Given the description of an element on the screen output the (x, y) to click on. 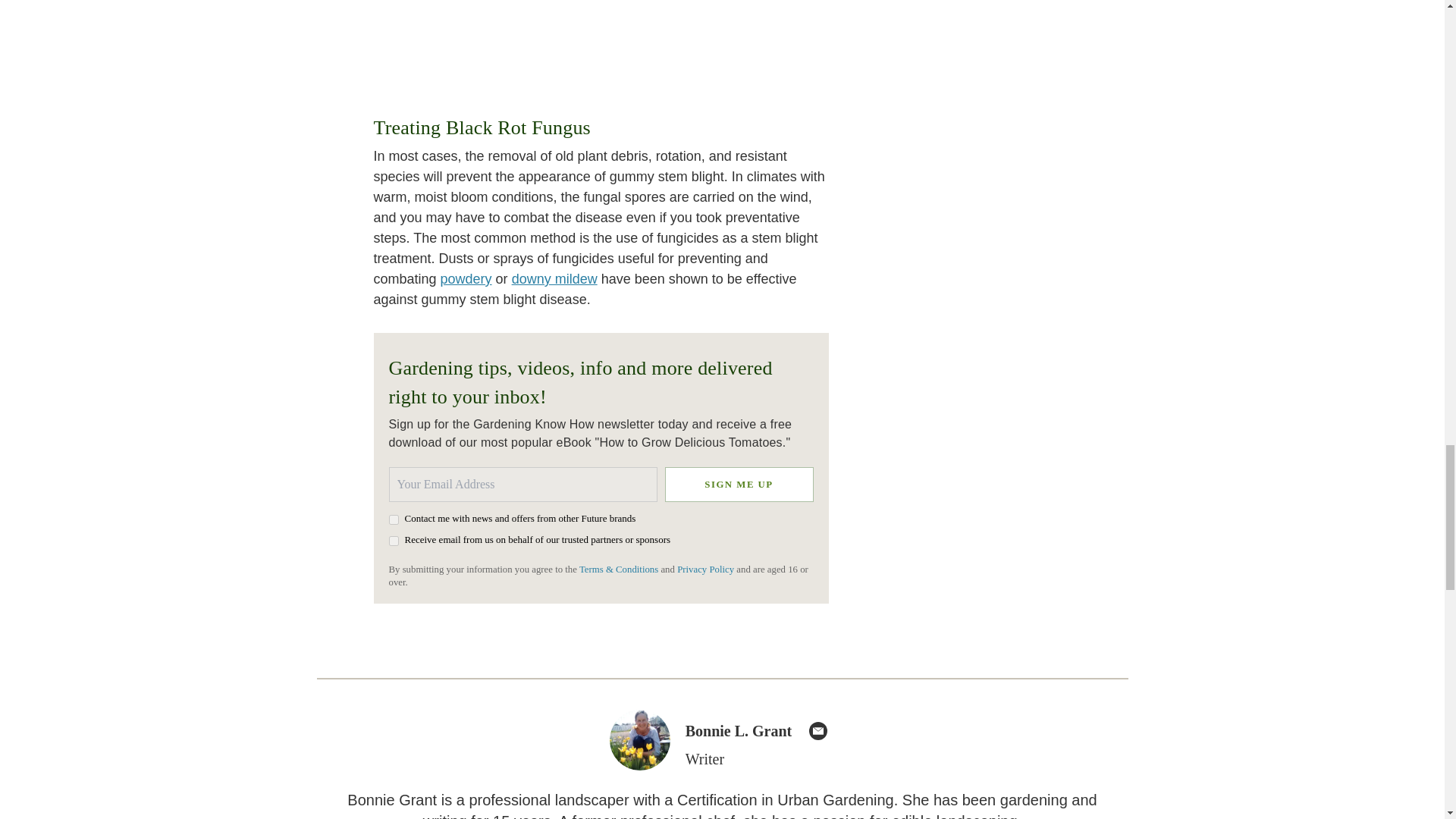
on (392, 519)
Sign me up (737, 484)
on (392, 541)
